Given the description of an element on the screen output the (x, y) to click on. 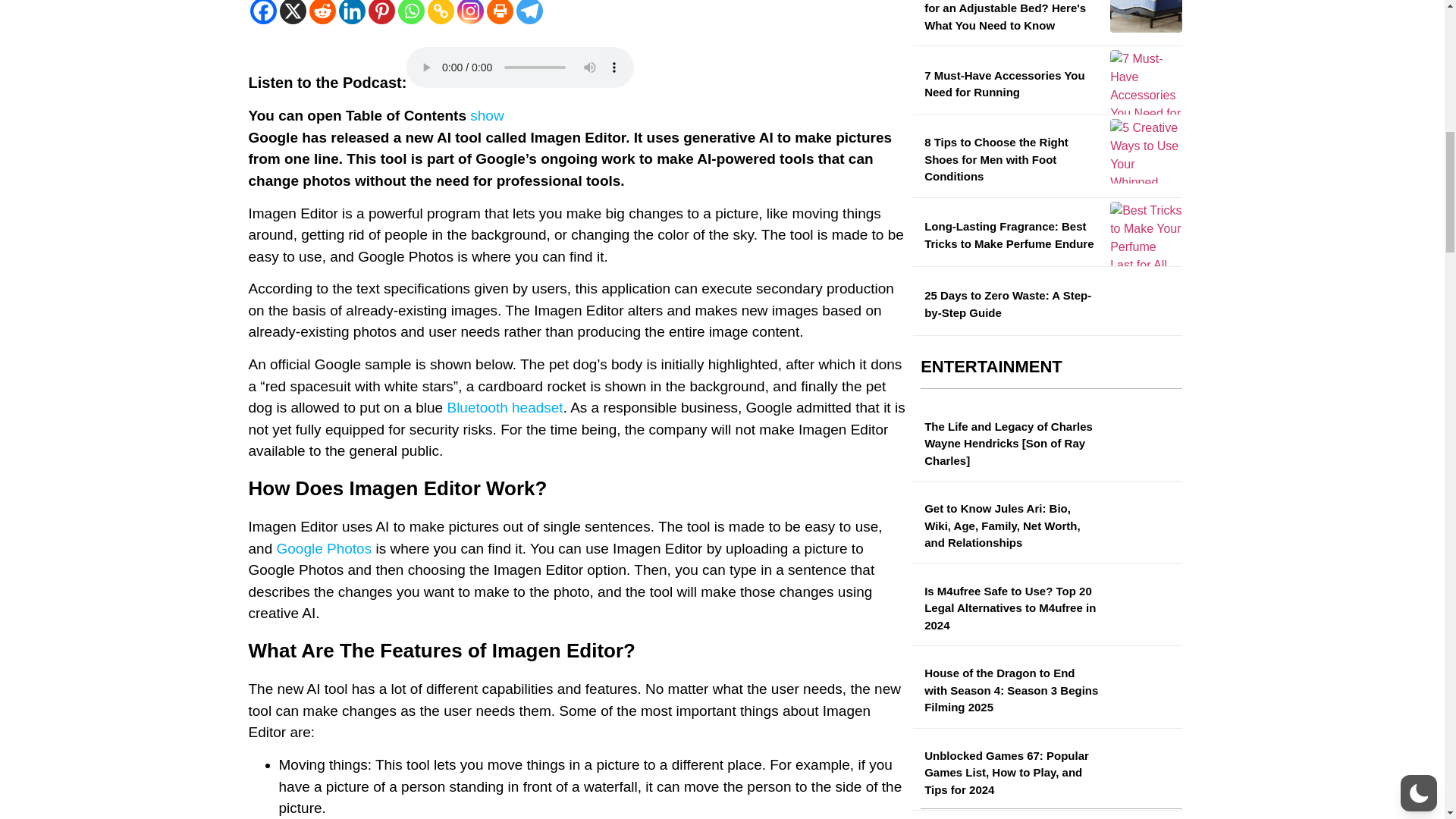
Instagram (470, 12)
Print (499, 12)
Whatsapp (410, 12)
Copy Link (441, 12)
Linkedin (351, 12)
Reddit (322, 12)
Facebook (263, 12)
Pinterest (381, 12)
X (292, 12)
Telegram (528, 12)
